Given the description of an element on the screen output the (x, y) to click on. 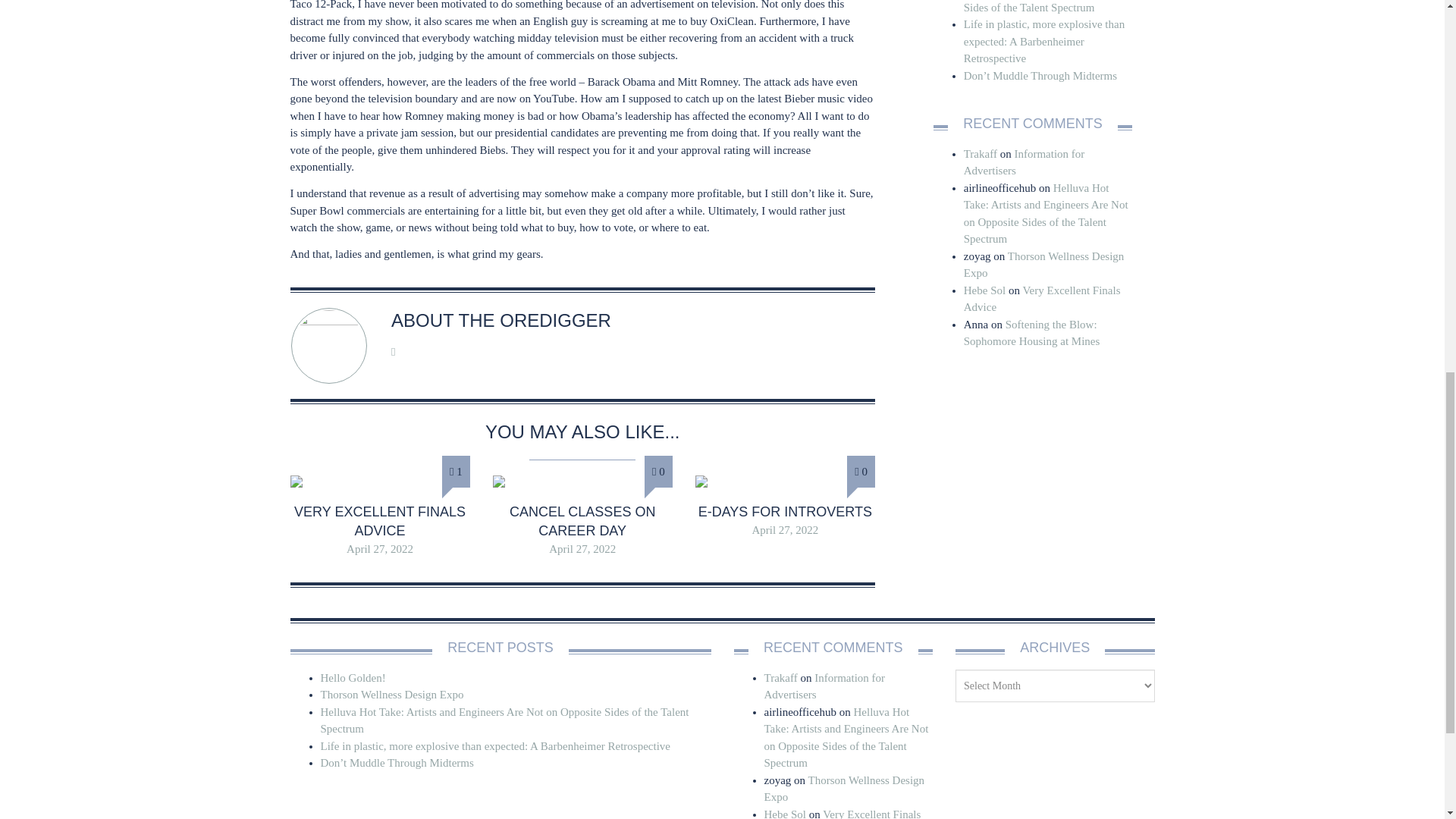
Posts by The Oredigger (534, 320)
